Given the description of an element on the screen output the (x, y) to click on. 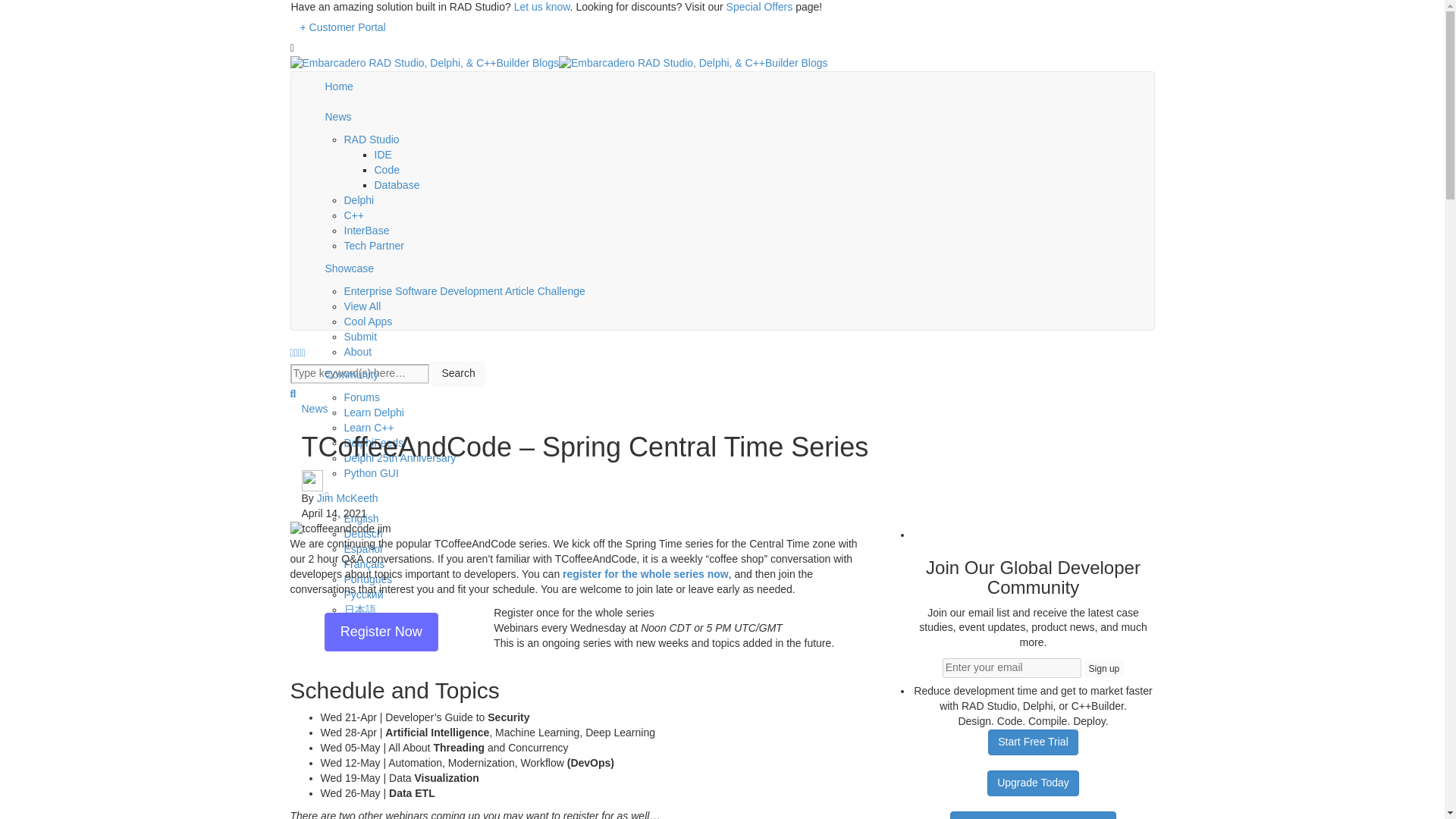
Search (457, 373)
Special Offers (759, 6)
View All (362, 306)
DelphiFeeds (373, 442)
Showcase (735, 268)
Home (735, 87)
RAD Studio (370, 139)
Learn Delphi (373, 412)
Delphi 25th Anniversary (400, 458)
Database (397, 184)
